Given the description of an element on the screen output the (x, y) to click on. 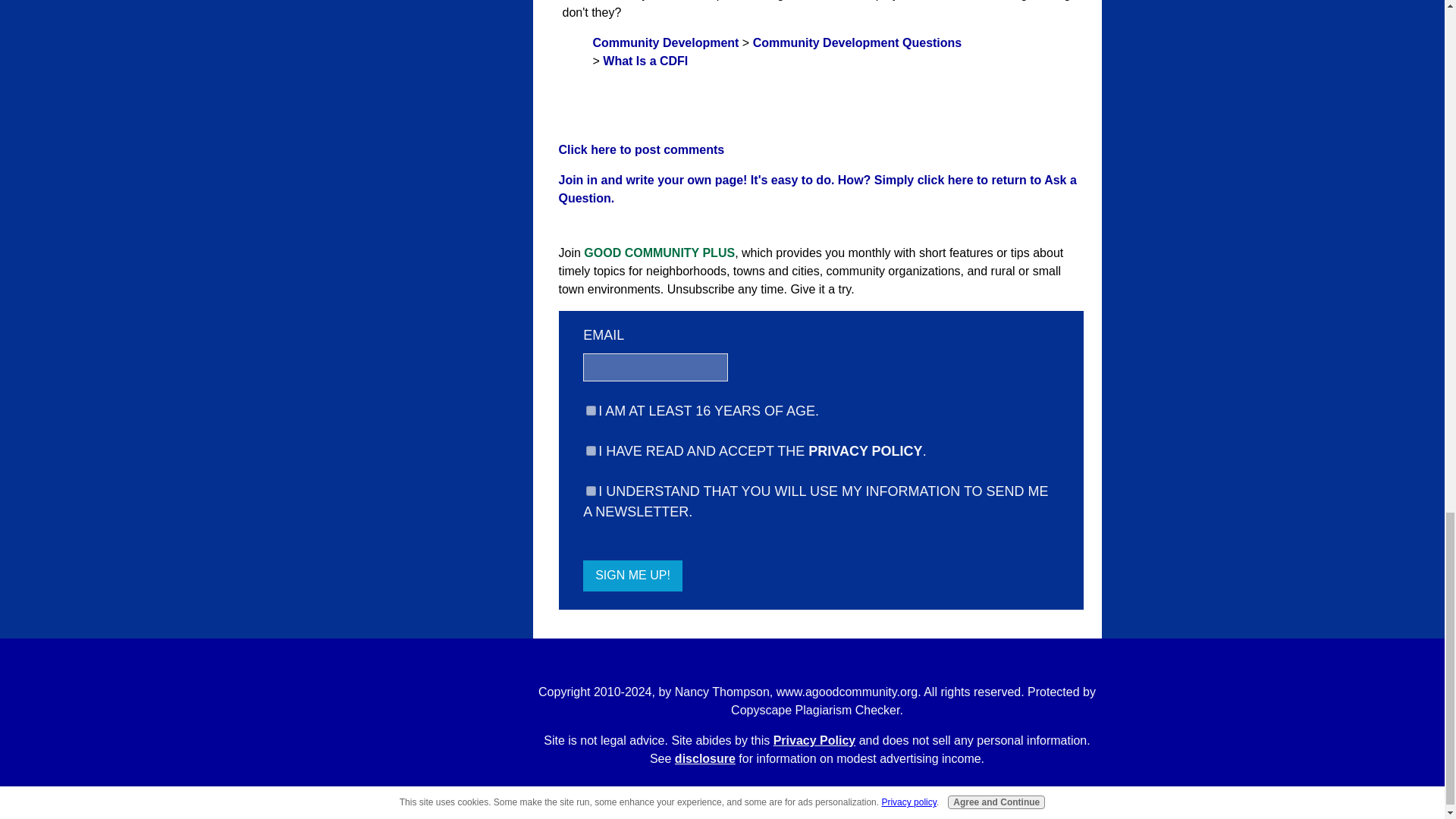
Privacy Policy (814, 739)
Click here to post comments (640, 149)
What Is a CDFI (644, 60)
on (590, 450)
on (590, 410)
Community Development (665, 42)
PRIVACY POLICY (864, 450)
Community Development Questions (857, 42)
SIGN ME UP! (632, 576)
on (590, 491)
